Given the description of an element on the screen output the (x, y) to click on. 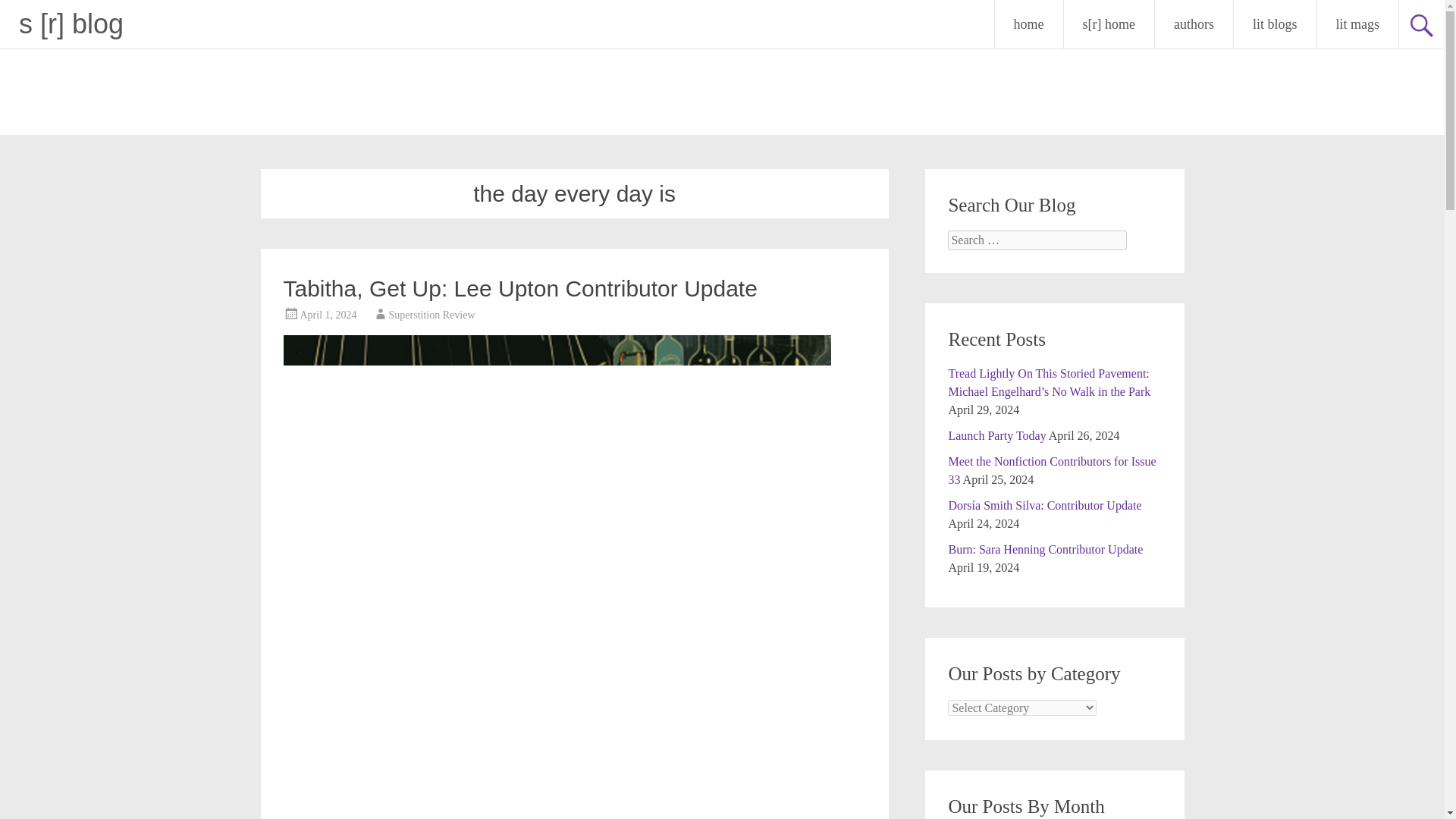
lit blogs (1274, 24)
April 1, 2024 (327, 315)
Tabitha, Get Up: Lee Upton Contributor Update (520, 288)
Superstition Review (432, 315)
authors (1193, 24)
home (1028, 24)
lit mags (1356, 24)
